Given the description of an element on the screen output the (x, y) to click on. 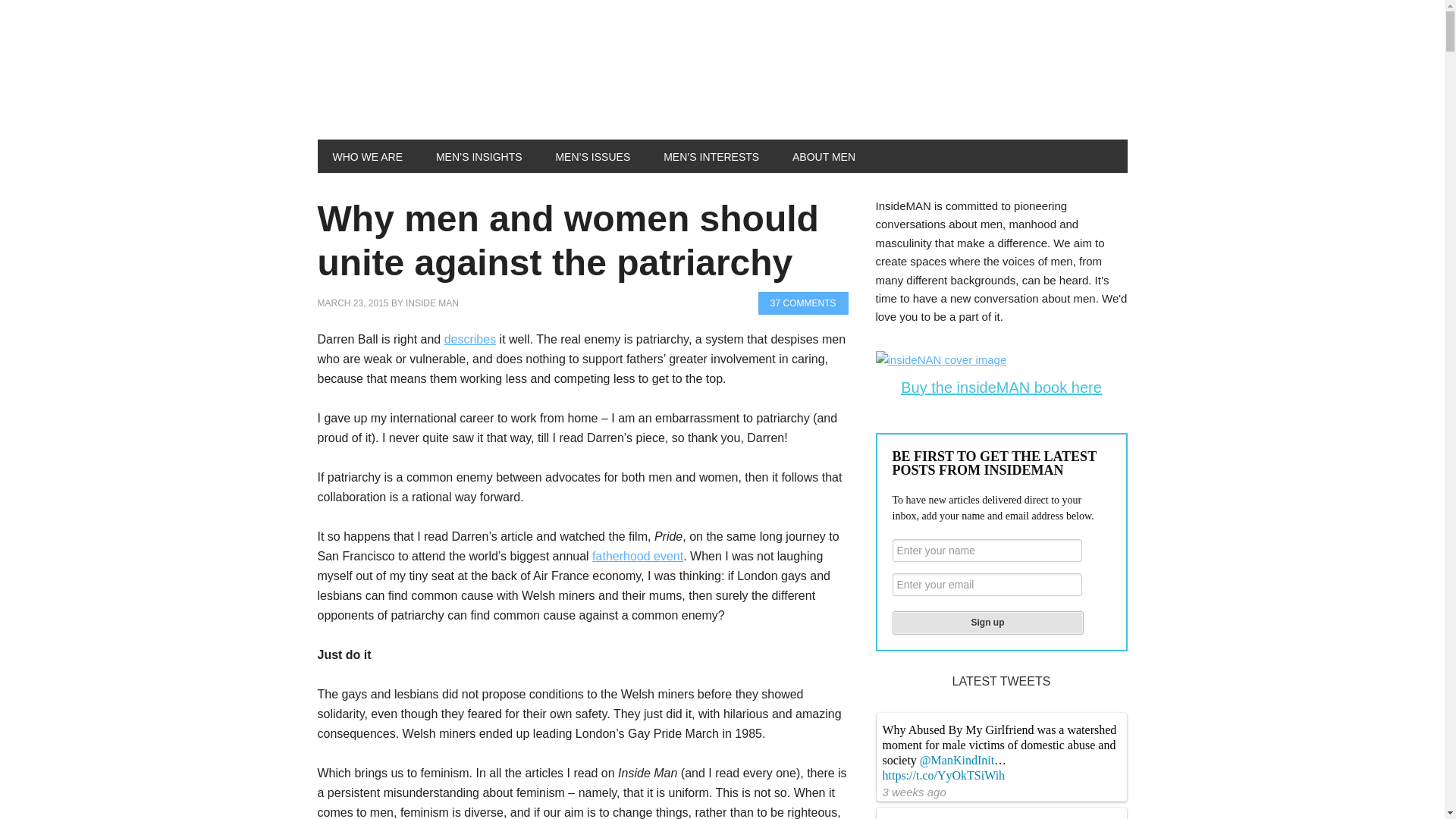
Why men and women should unite against the patriarchy (567, 240)
INSIDE MAN (432, 303)
describes (470, 338)
WHO WE ARE (367, 155)
INSIDEMAN (419, 81)
37 COMMENTS (803, 302)
ABOUT MEN (823, 155)
Sign up (987, 622)
fatherhood event (637, 555)
